Given the description of an element on the screen output the (x, y) to click on. 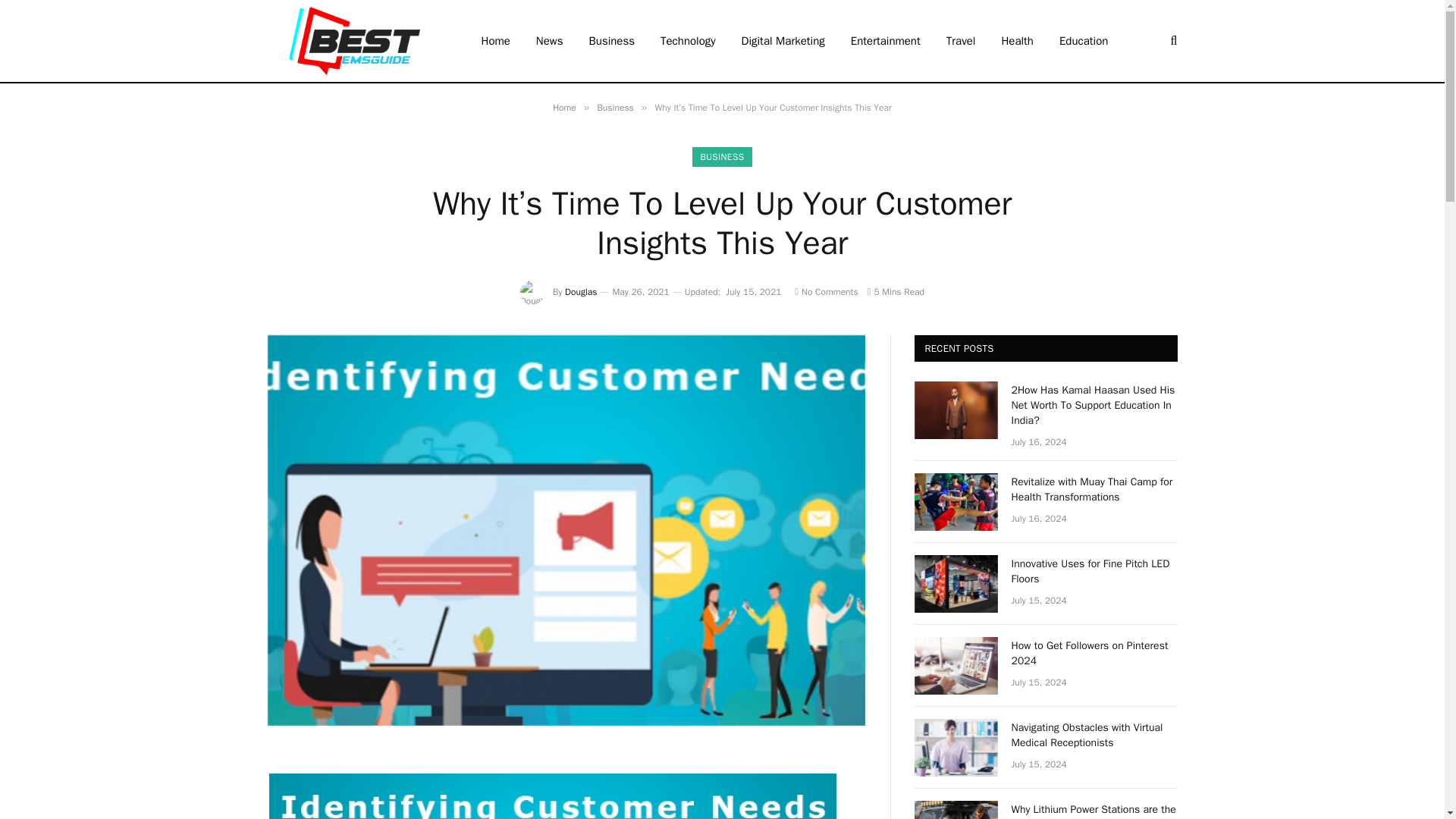
Education (1083, 40)
How to Get Followers on Pinterest 2024 (955, 665)
Digital Marketing (783, 40)
Entertainment (885, 40)
Douglas (580, 291)
Revitalize with Muay Thai Camp for Health Transformations (955, 501)
Posts by Douglas (580, 291)
No Comments (825, 291)
Business (614, 107)
Navigating Obstacles with Virtual Medical Receptionists (955, 747)
Bestemsguide (353, 41)
Technology (688, 40)
BUSINESS (722, 157)
